Given the description of an element on the screen output the (x, y) to click on. 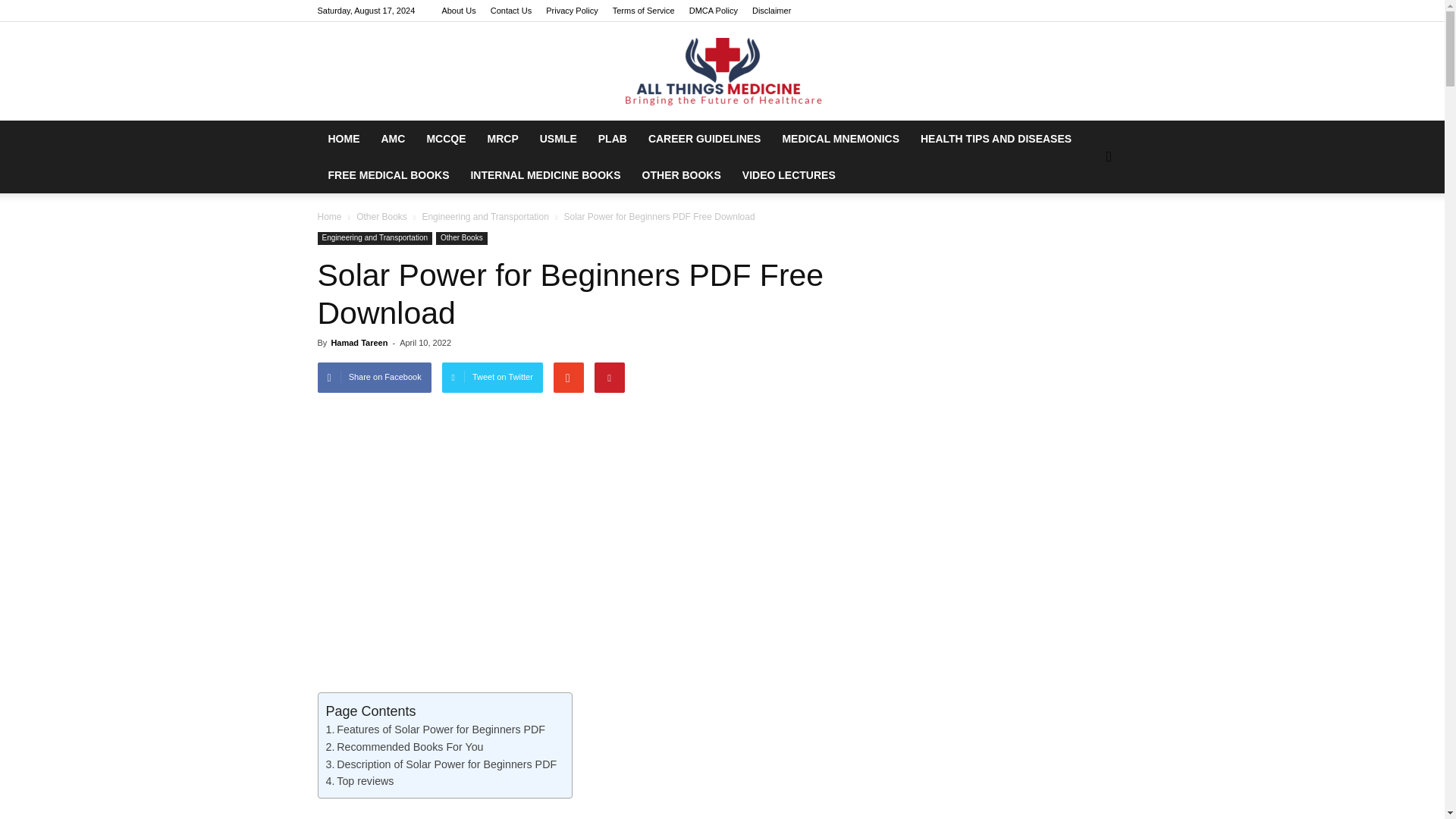
Description of Solar Power for Beginners PDF (441, 764)
Top reviews (360, 781)
View all posts in Engineering and Transportation (485, 216)
Recommended Books For You (404, 746)
View all posts in Other Books (381, 216)
Features of Solar Power for Beginners PDF (436, 729)
